Given the description of an element on the screen output the (x, y) to click on. 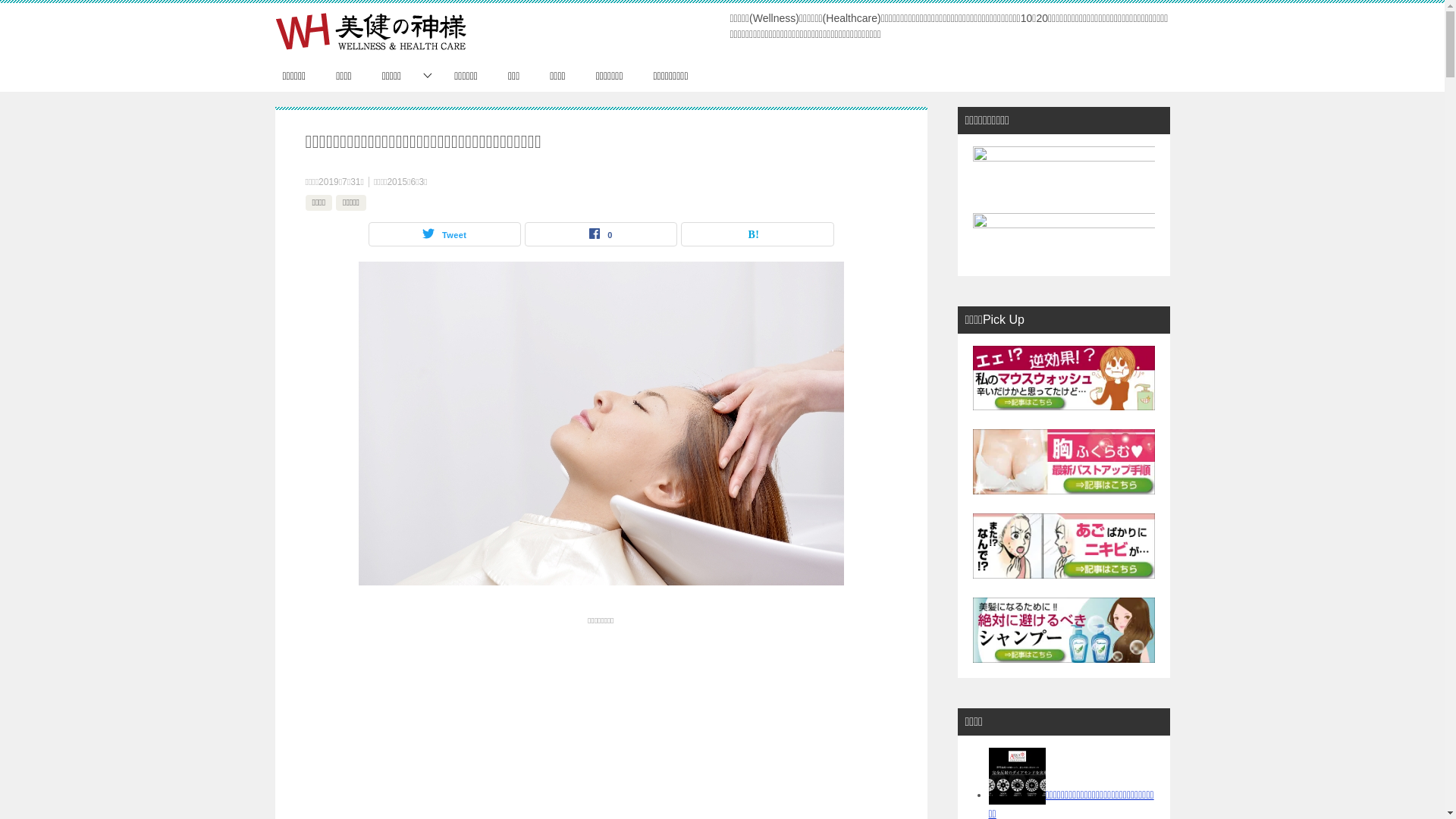
Tweet Element type: text (443, 233)
0 Element type: text (600, 233)
